Given the description of an element on the screen output the (x, y) to click on. 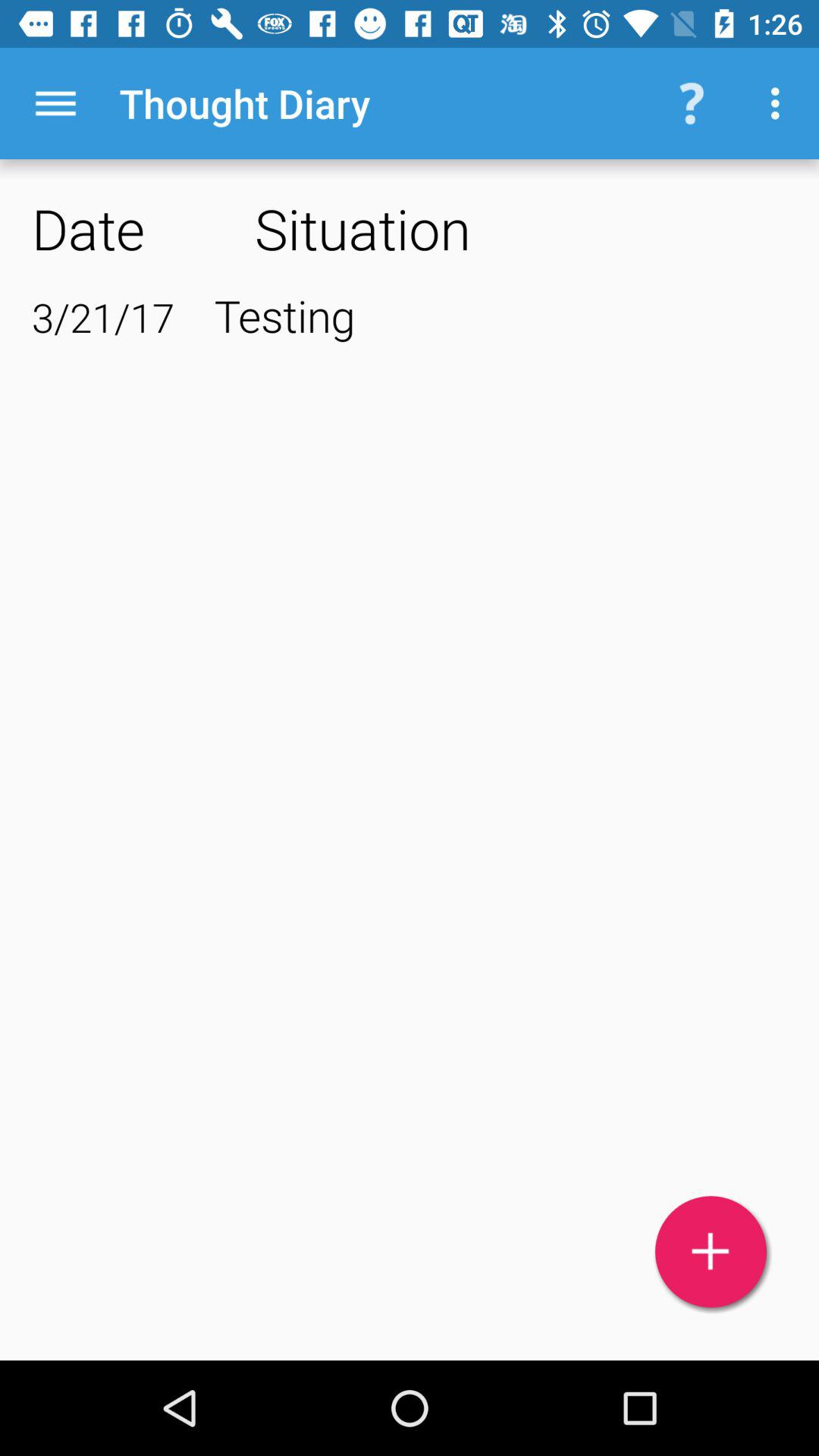
open the item to the left of testing item (102, 316)
